Given the description of an element on the screen output the (x, y) to click on. 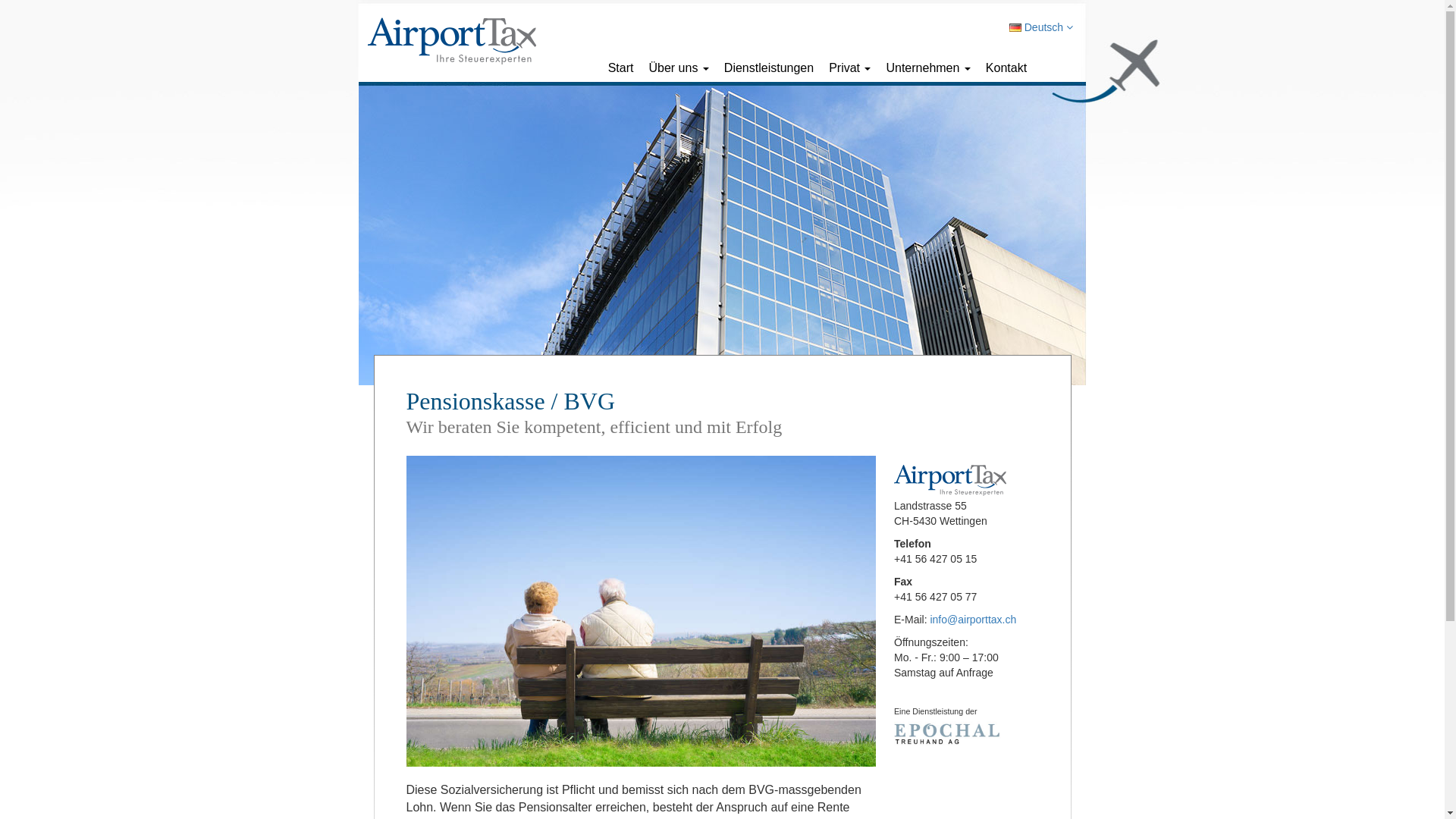
Unternehmen Element type: text (927, 68)
Deutsch Element type: text (1041, 26)
Dienstleistungen Element type: text (768, 68)
info@airporttax.ch Element type: text (972, 619)
Kontakt Element type: text (1006, 68)
Privat Element type: text (849, 68)
Start Element type: text (620, 68)
